Given the description of an element on the screen output the (x, y) to click on. 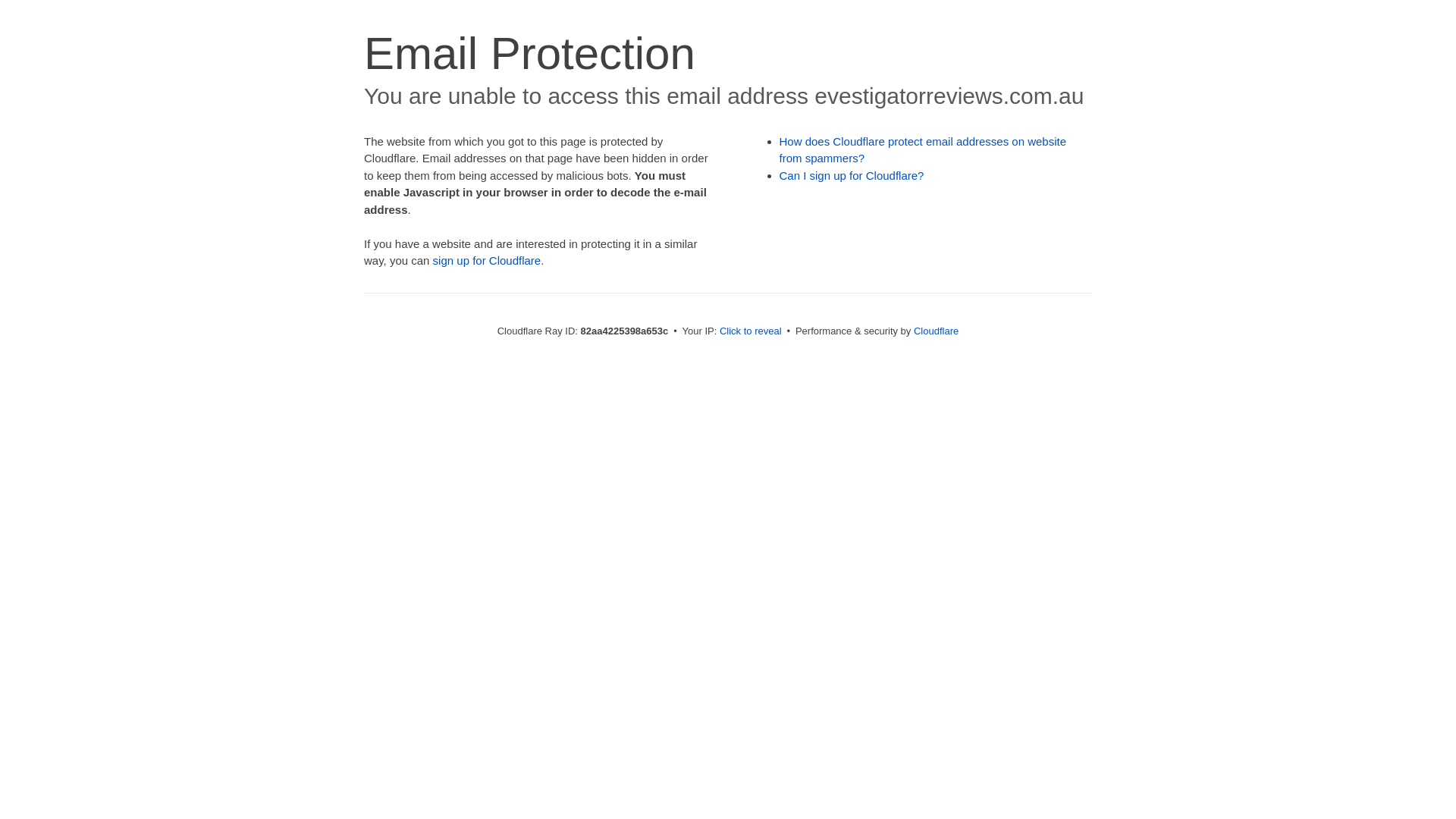
Click to reveal Element type: text (750, 330)
Can I sign up for Cloudflare? Element type: text (851, 175)
sign up for Cloudflare Element type: text (487, 260)
Cloudflare Element type: text (935, 330)
